Given the description of an element on the screen output the (x, y) to click on. 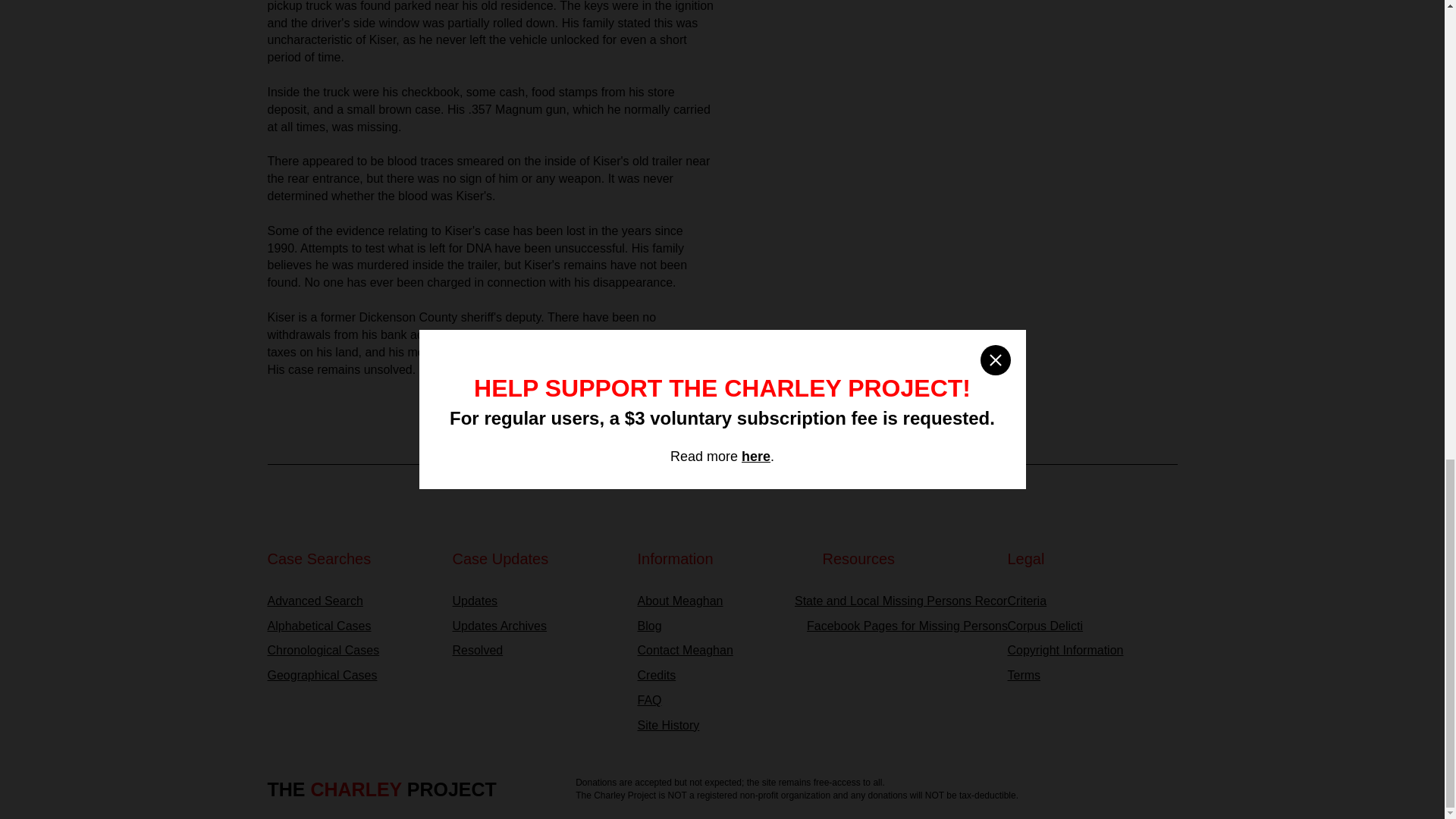
Blog (721, 626)
Updates (536, 601)
Resolved (536, 651)
Advanced Search (351, 601)
Chronological Cases (351, 651)
Geographical Cases (351, 675)
About Meaghan (721, 601)
Contact Meaghan (721, 651)
Alphabetical Cases (351, 626)
Updates Archives (536, 626)
